Given the description of an element on the screen output the (x, y) to click on. 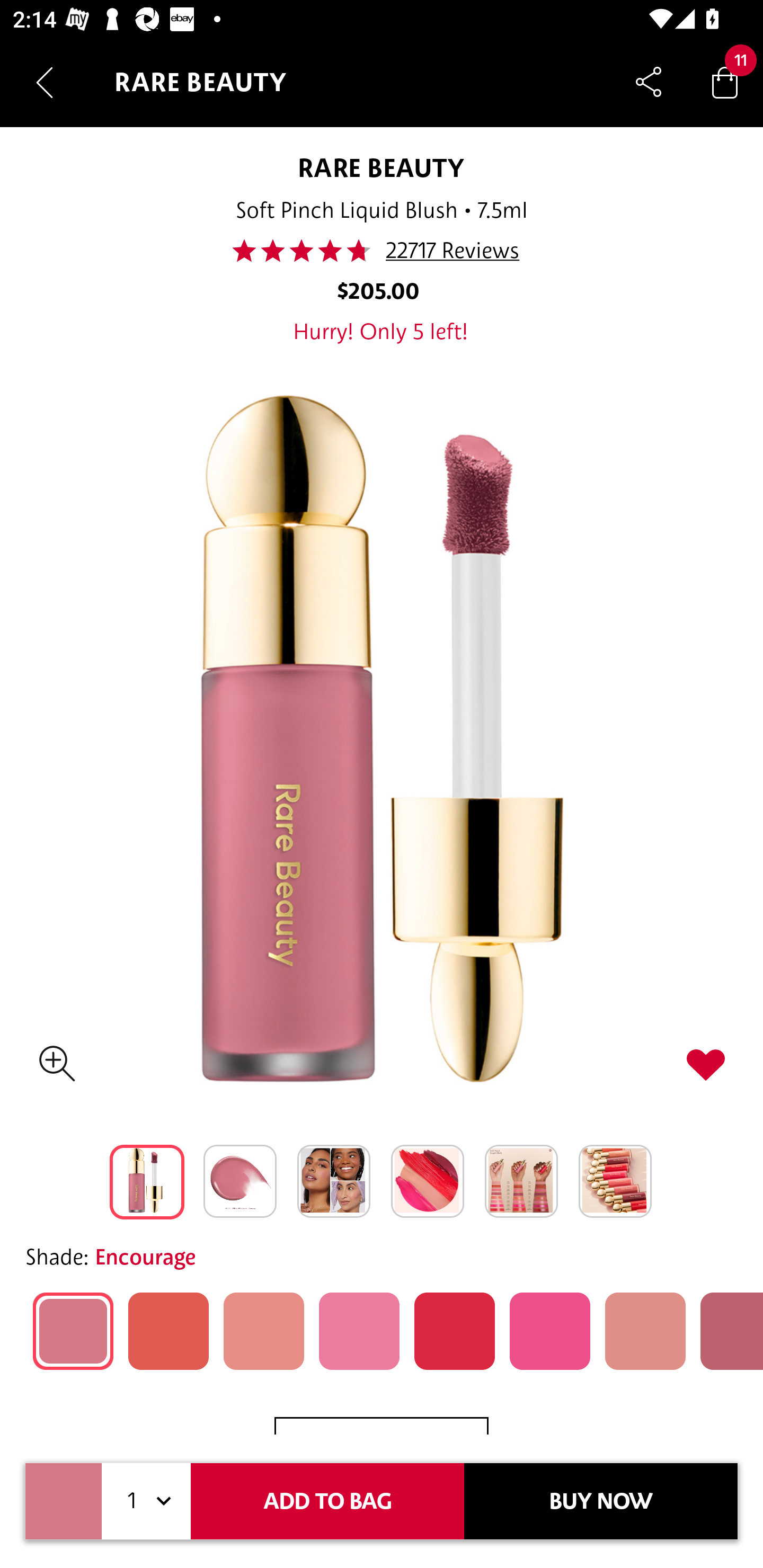
Navigate up (44, 82)
Share (648, 81)
Bag (724, 81)
RARE BEAUTY (381, 167)
47.0 22717 Reviews (380, 250)
1 (145, 1500)
ADD TO BAG (326, 1500)
BUY NOW (600, 1500)
